Given the description of an element on the screen output the (x, y) to click on. 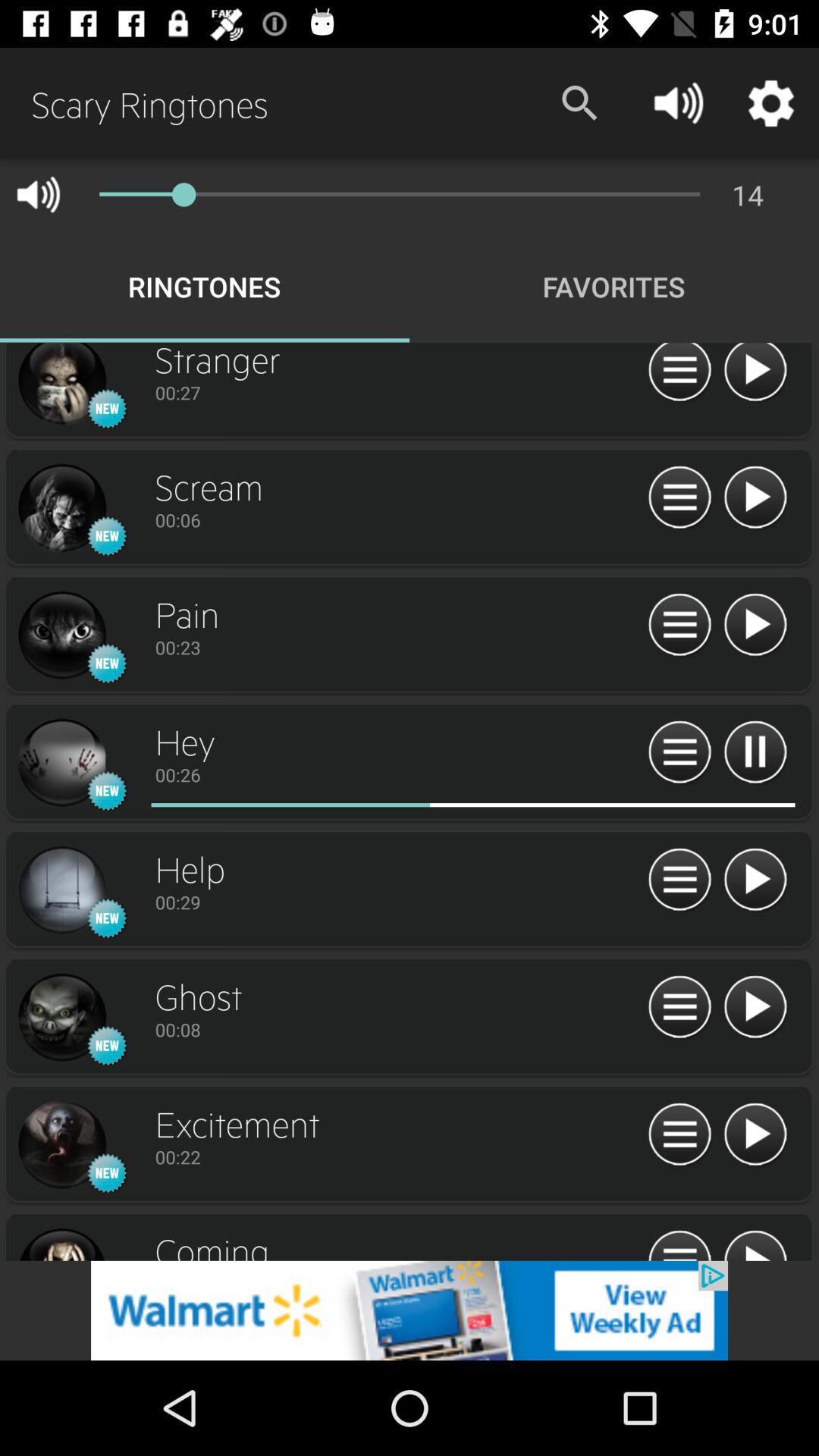
go to select option (679, 880)
